Given the description of an element on the screen output the (x, y) to click on. 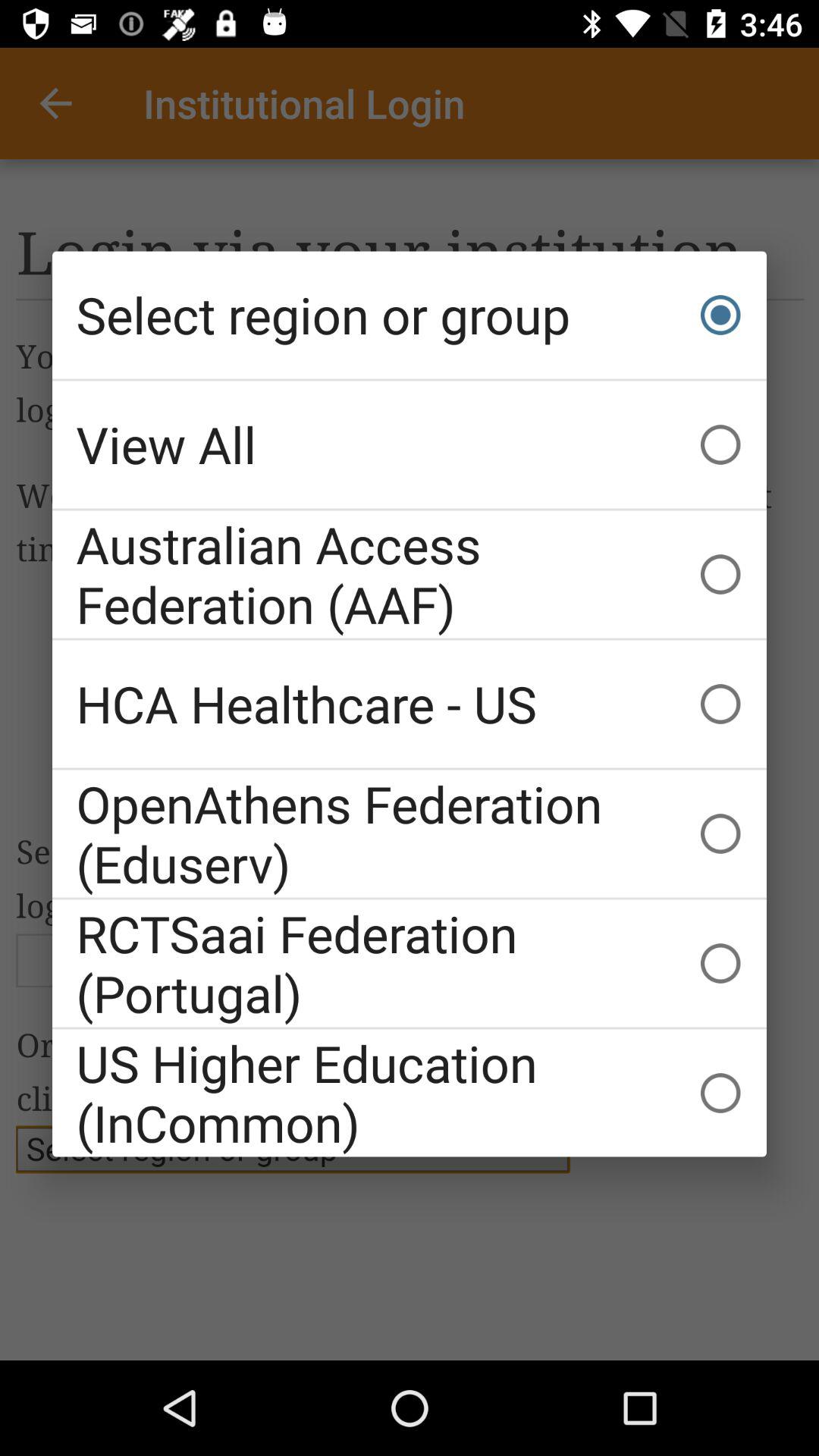
open the icon above hca healthcare - us item (409, 574)
